Given the description of an element on the screen output the (x, y) to click on. 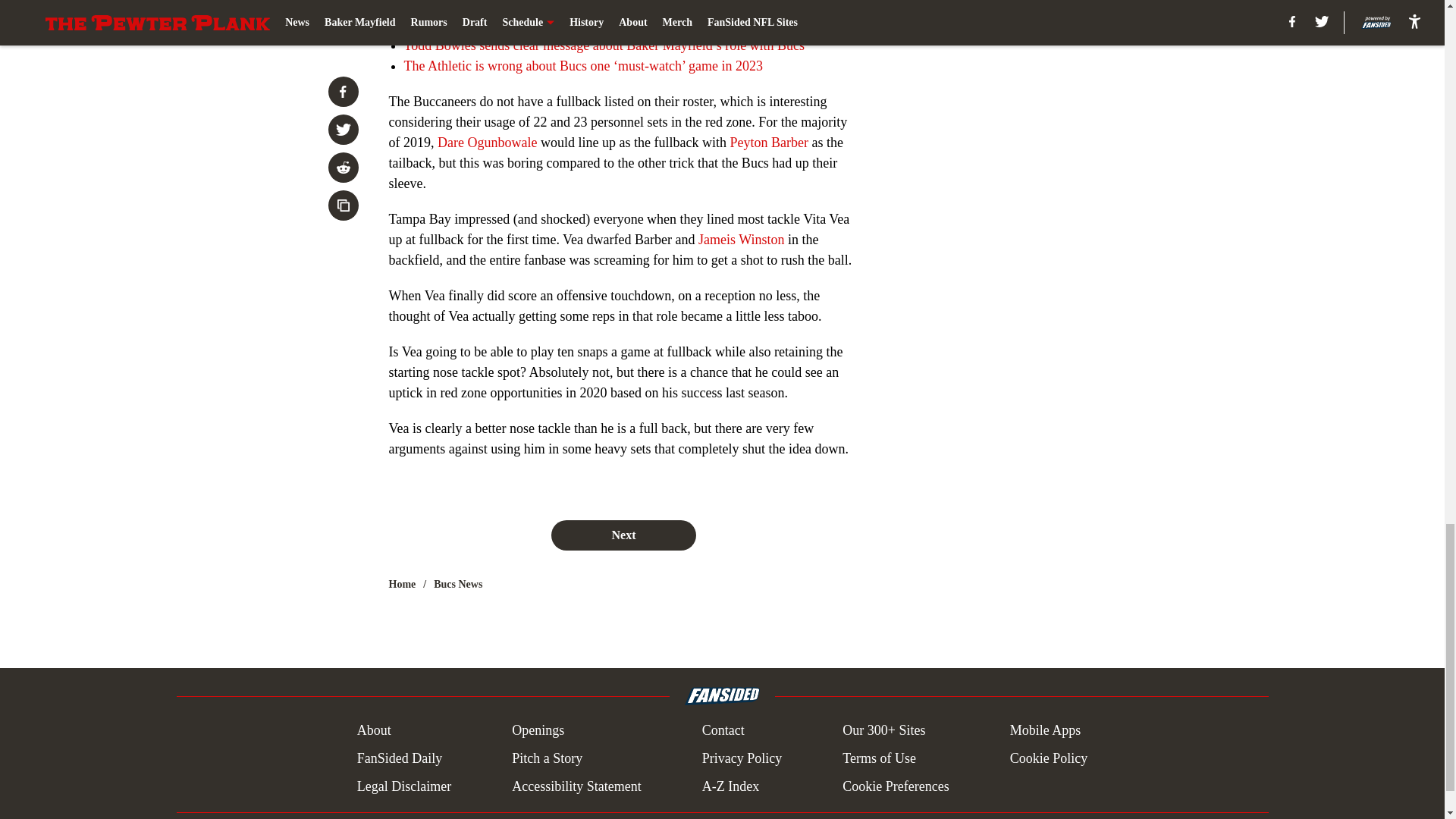
About (373, 730)
Peyton Barber (768, 142)
Dare Ogunbowale (487, 142)
Openings (538, 730)
Next (622, 535)
Home (401, 584)
Contact (722, 730)
Bucs News (457, 584)
ESPN predicts surprising outcome to Devin White trade saga (570, 6)
